Given the description of an element on the screen output the (x, y) to click on. 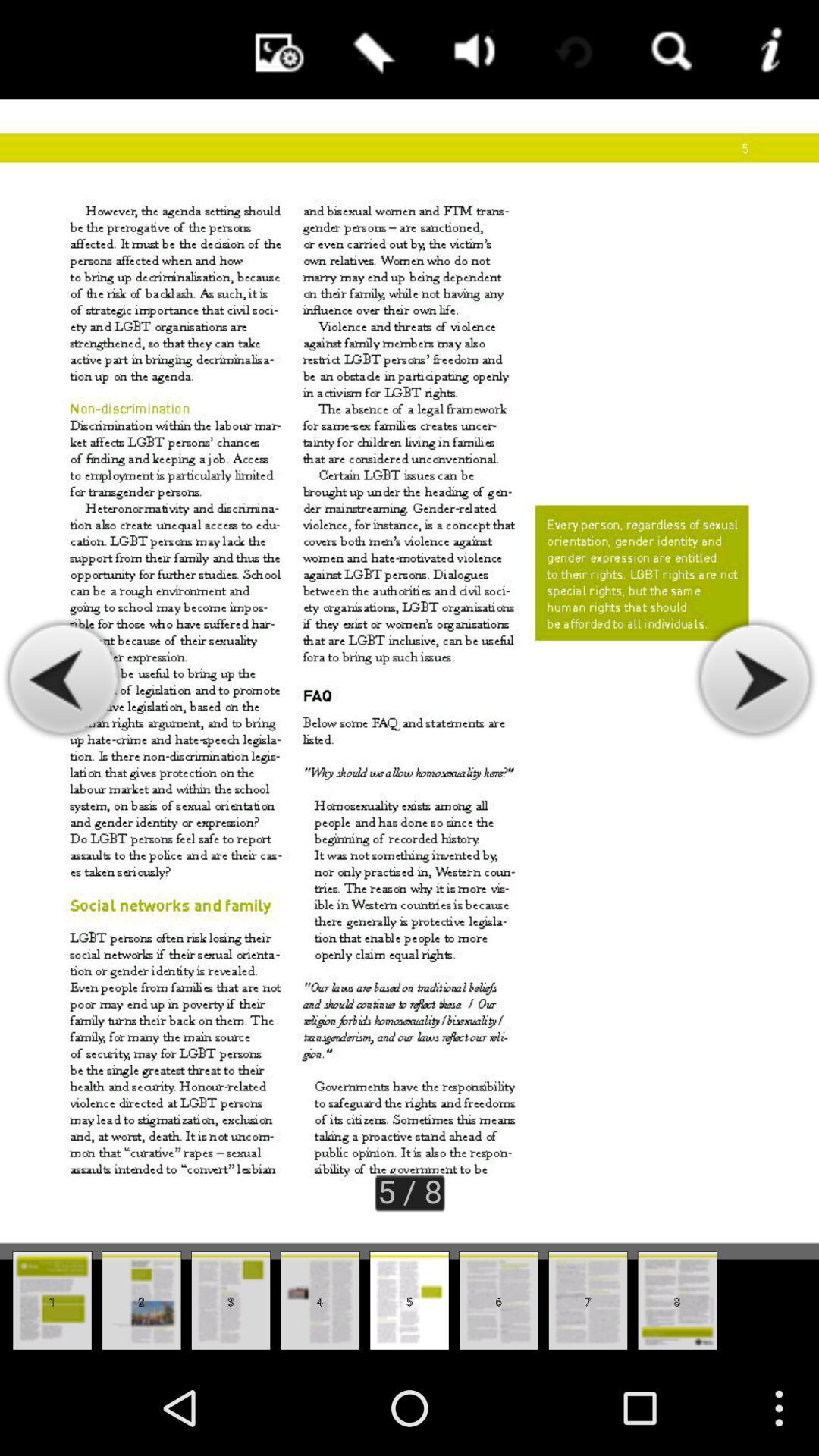
scroll left (63, 679)
